Given the description of an element on the screen output the (x, y) to click on. 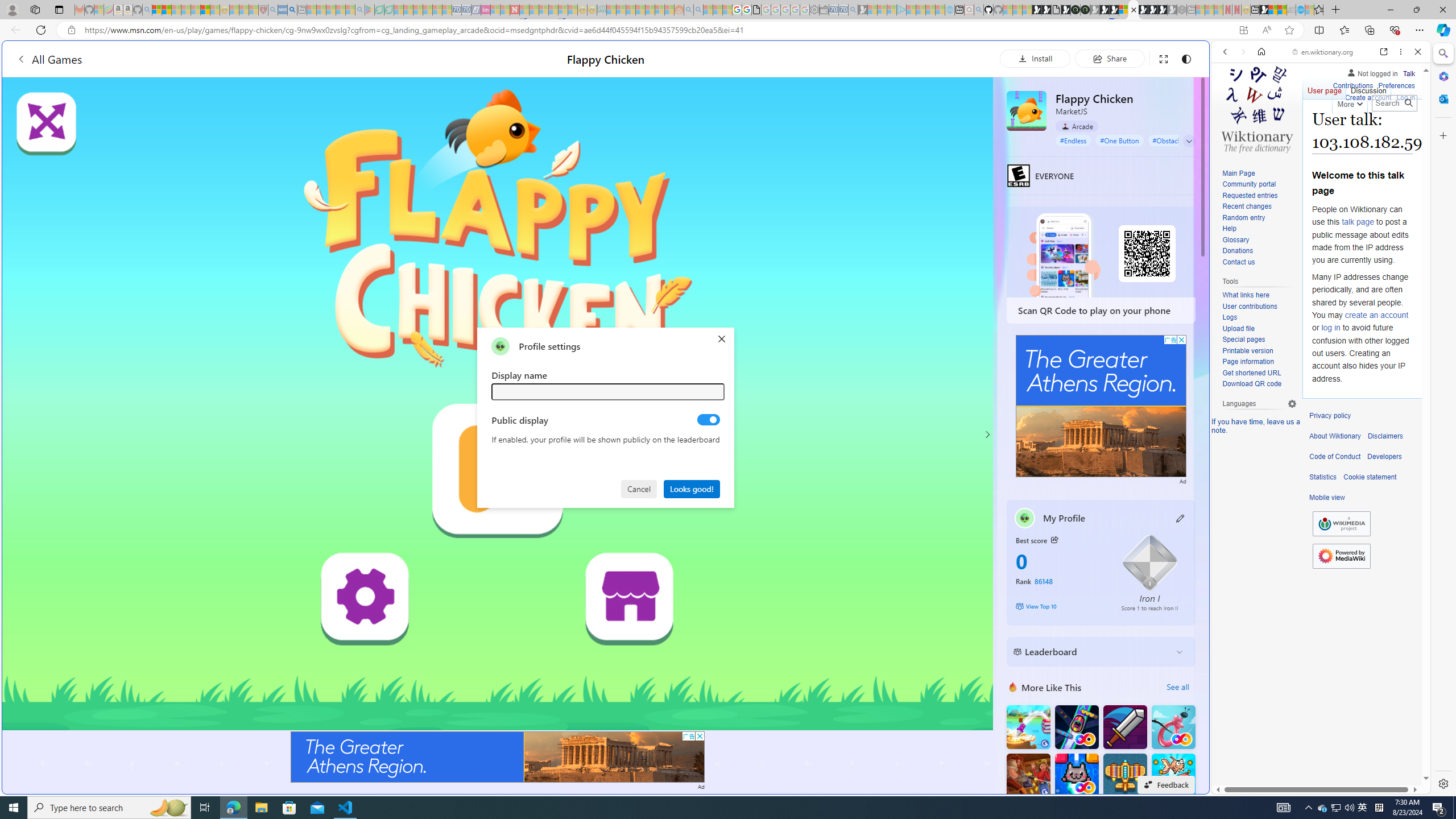
Bing Real Estate - Home sales and rental listings - Sleeping (853, 9)
User page (1324, 87)
Donations (1259, 251)
User contributions (1248, 306)
Search Filter, WEB (1230, 129)
utah sues federal government - Search (922, 389)
talk page (1357, 221)
